Given the description of an element on the screen output the (x, y) to click on. 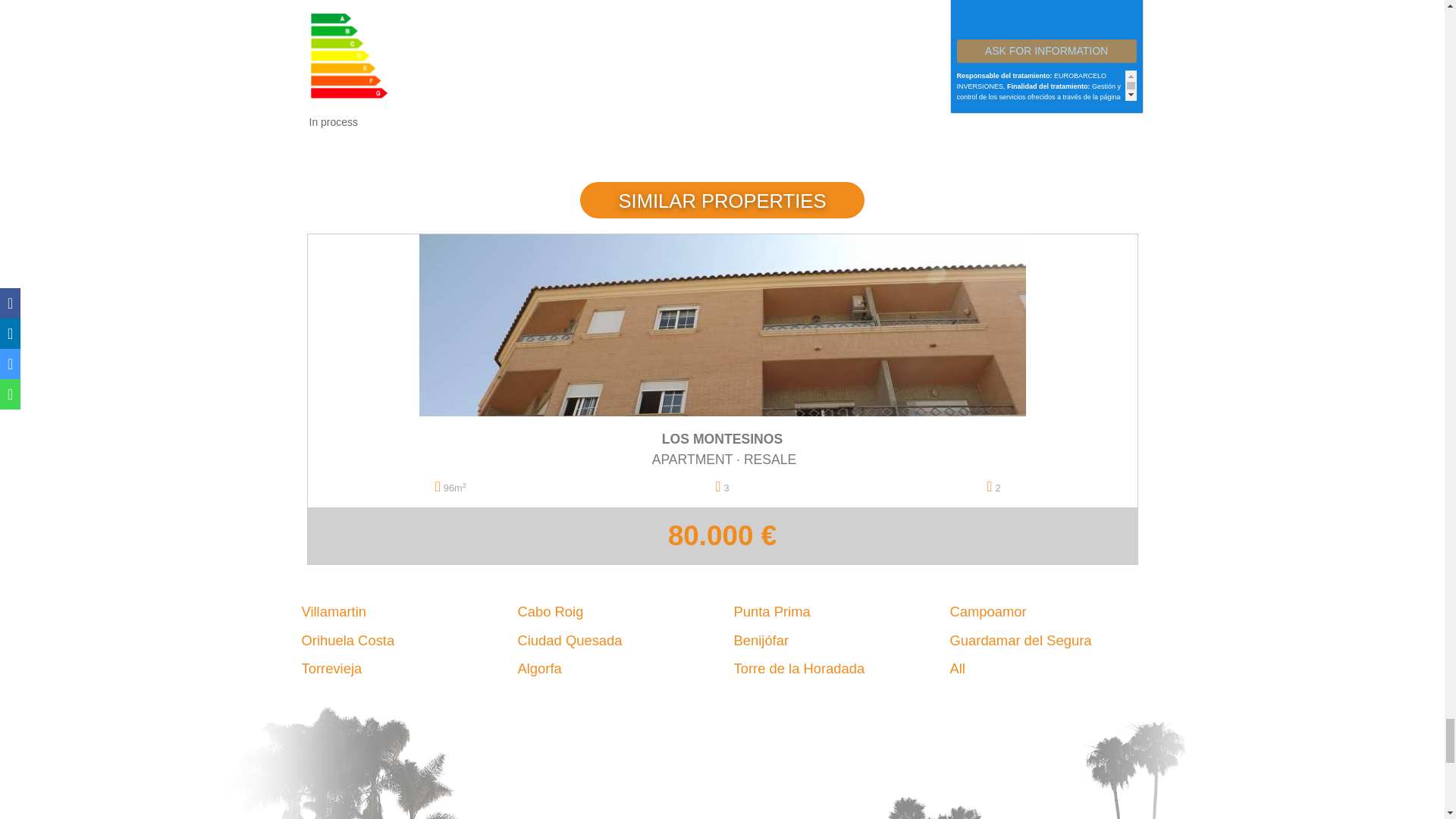
Ask for information (1046, 51)
